Given the description of an element on the screen output the (x, y) to click on. 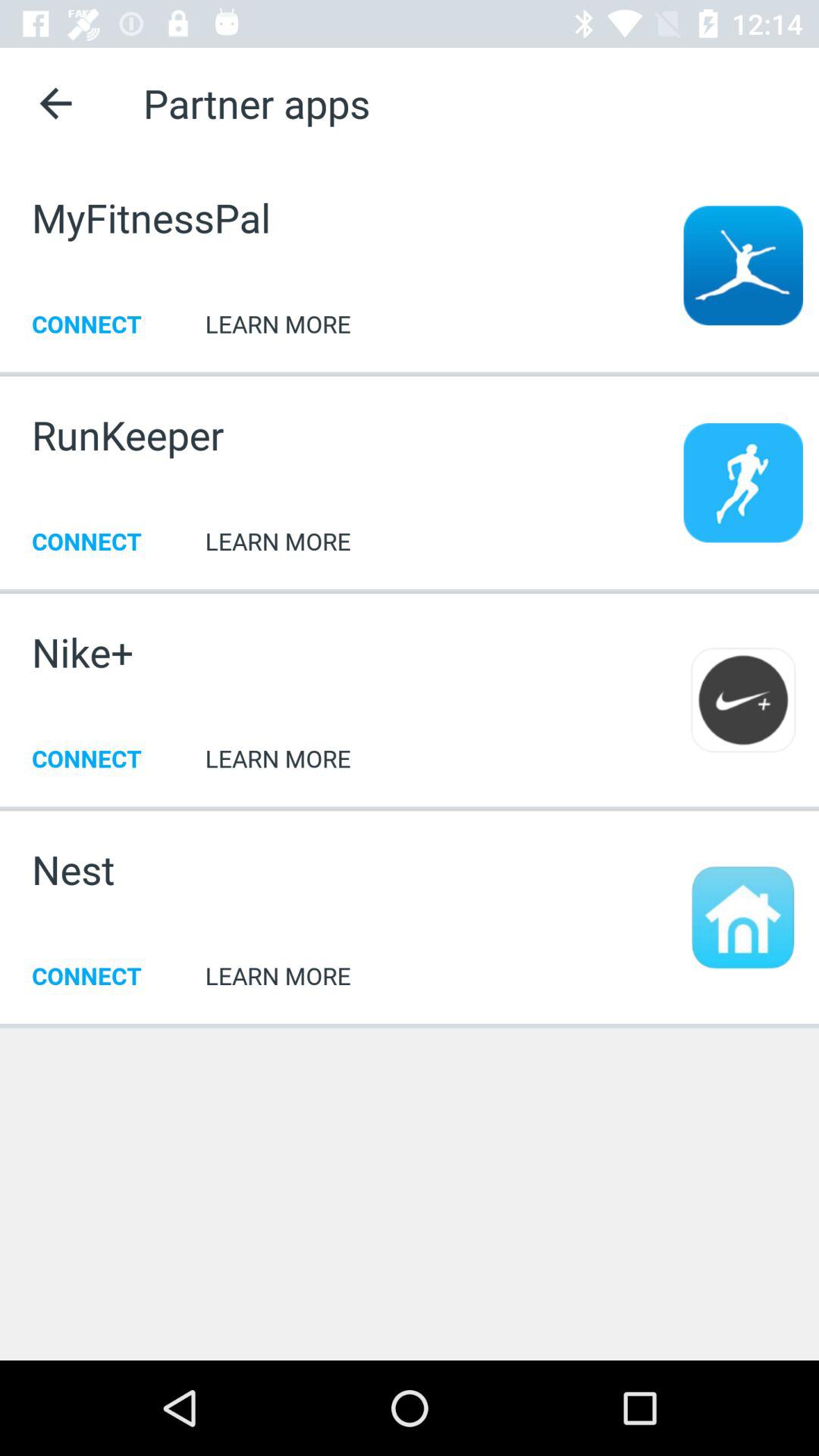
launch the myfitnesspal item (151, 217)
